Given the description of an element on the screen output the (x, y) to click on. 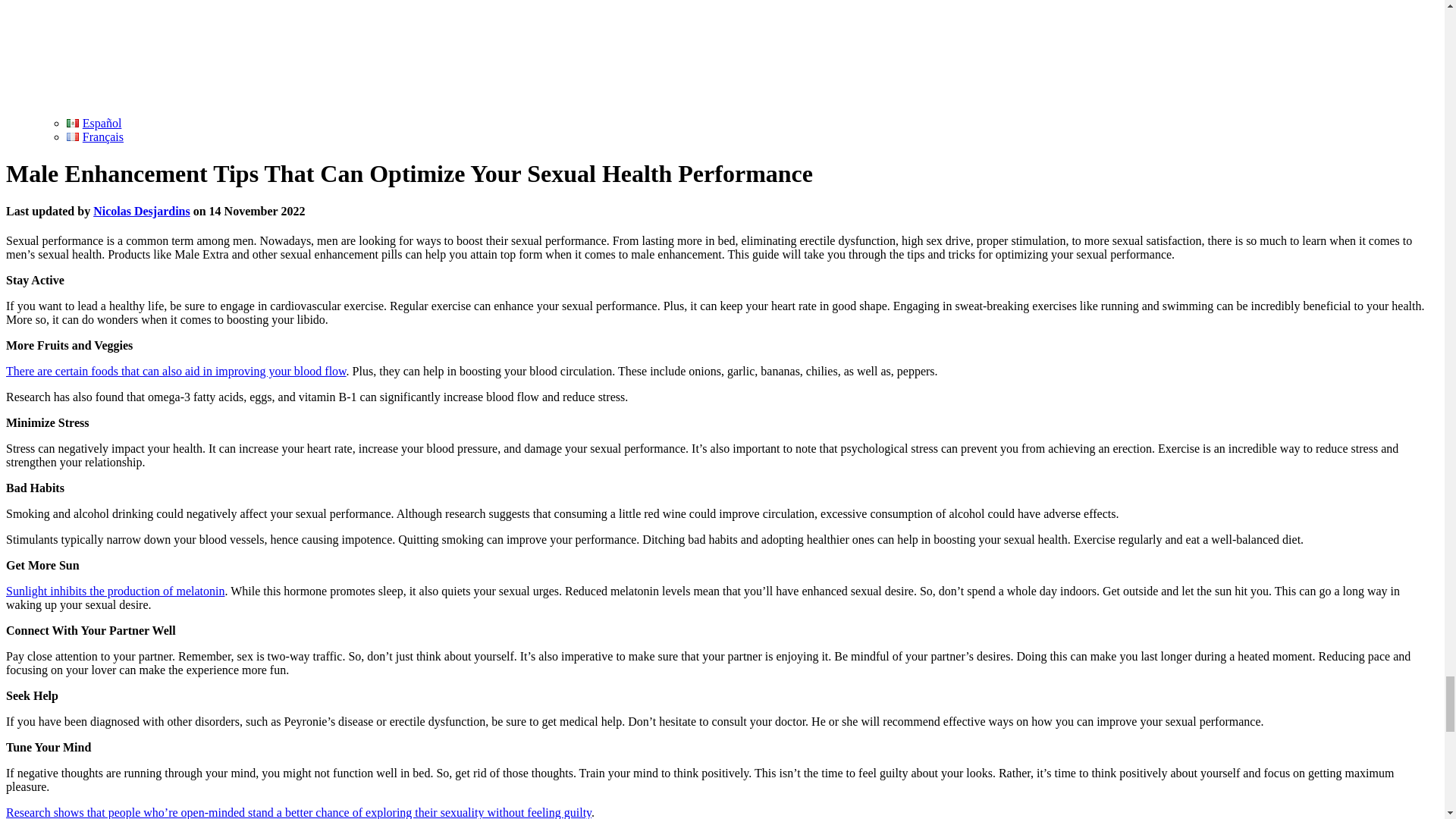
Nicolas Desjardins (141, 210)
Sunlight inhibits the production of melatonin (114, 590)
